Given the description of an element on the screen output the (x, y) to click on. 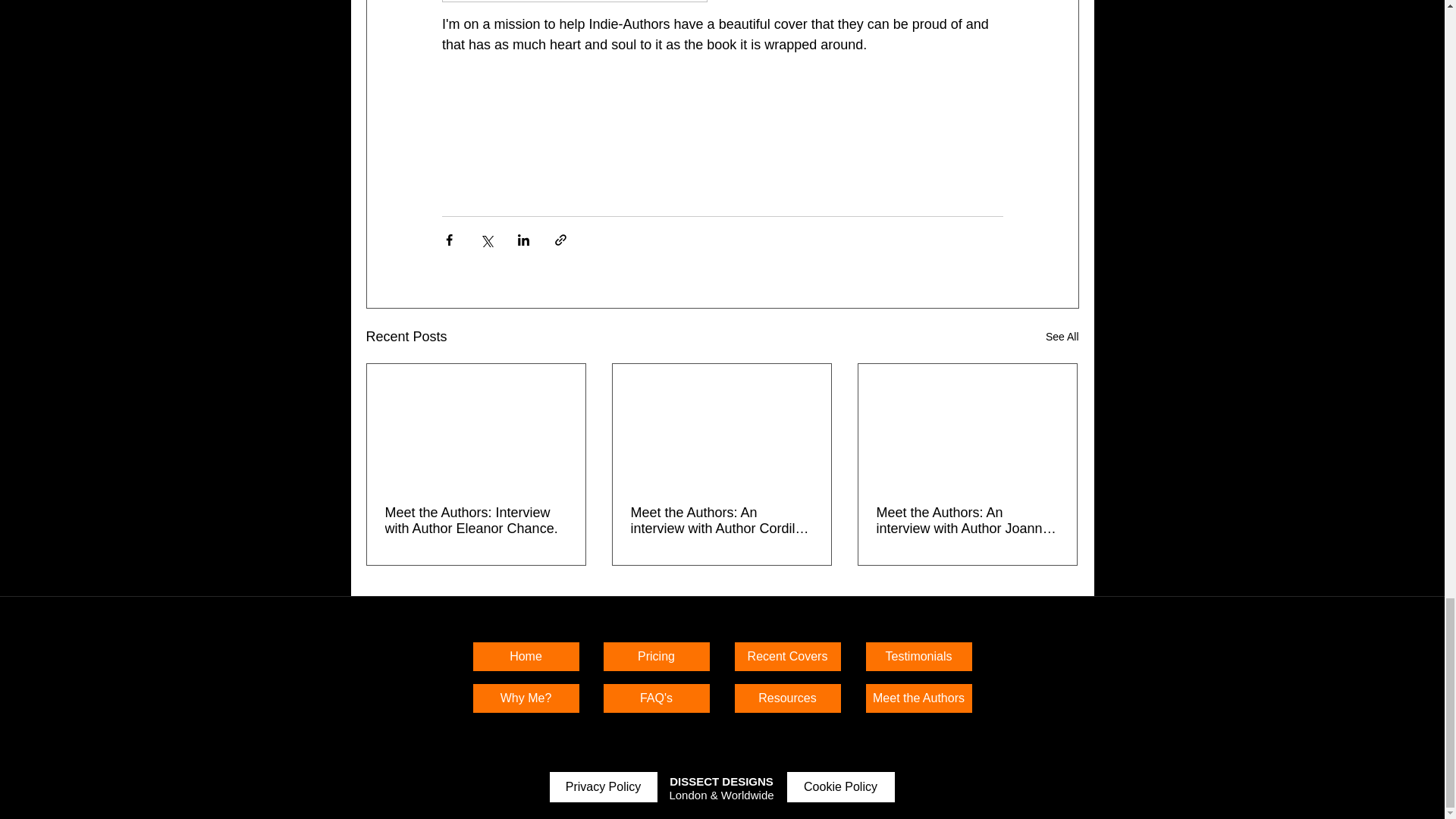
Recent Covers (787, 656)
Testimonials (918, 656)
Meet the Authors: Interview with Author Eleanor Chance. (476, 521)
FAQ's (656, 698)
Meet the Authors: An interview with Author Cordila Jochim. (721, 521)
Pricing (656, 656)
Meet the Authors: An interview with Author Joanne Jarvis. (967, 521)
Home (525, 656)
Why Me? (525, 698)
See All (1061, 336)
Meet the Authors (918, 698)
Resources (787, 698)
